Given the description of an element on the screen output the (x, y) to click on. 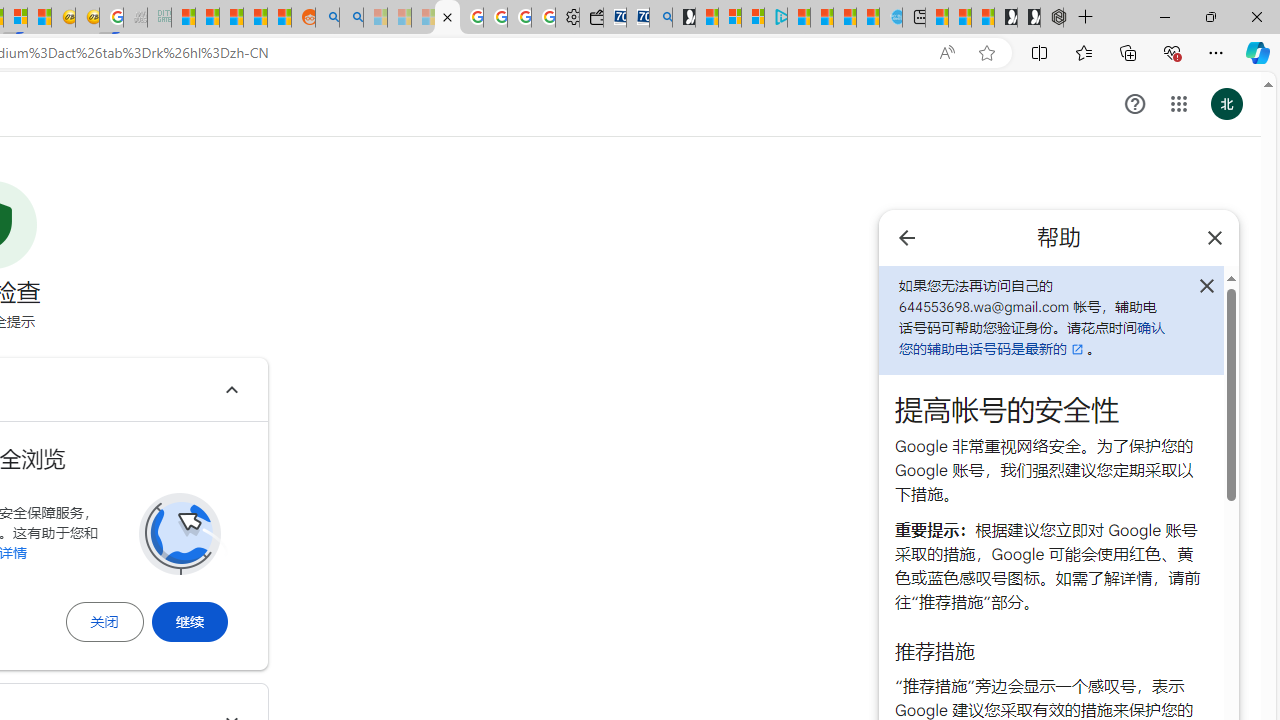
Cheap Car Rentals - Save70.com (637, 17)
Bing Real Estate - Home sales and rental listings (660, 17)
Home | Sky Blue Bikes - Sky Blue Bikes (890, 17)
Utah sues federal government - Search (351, 17)
